Given the description of an element on the screen output the (x, y) to click on. 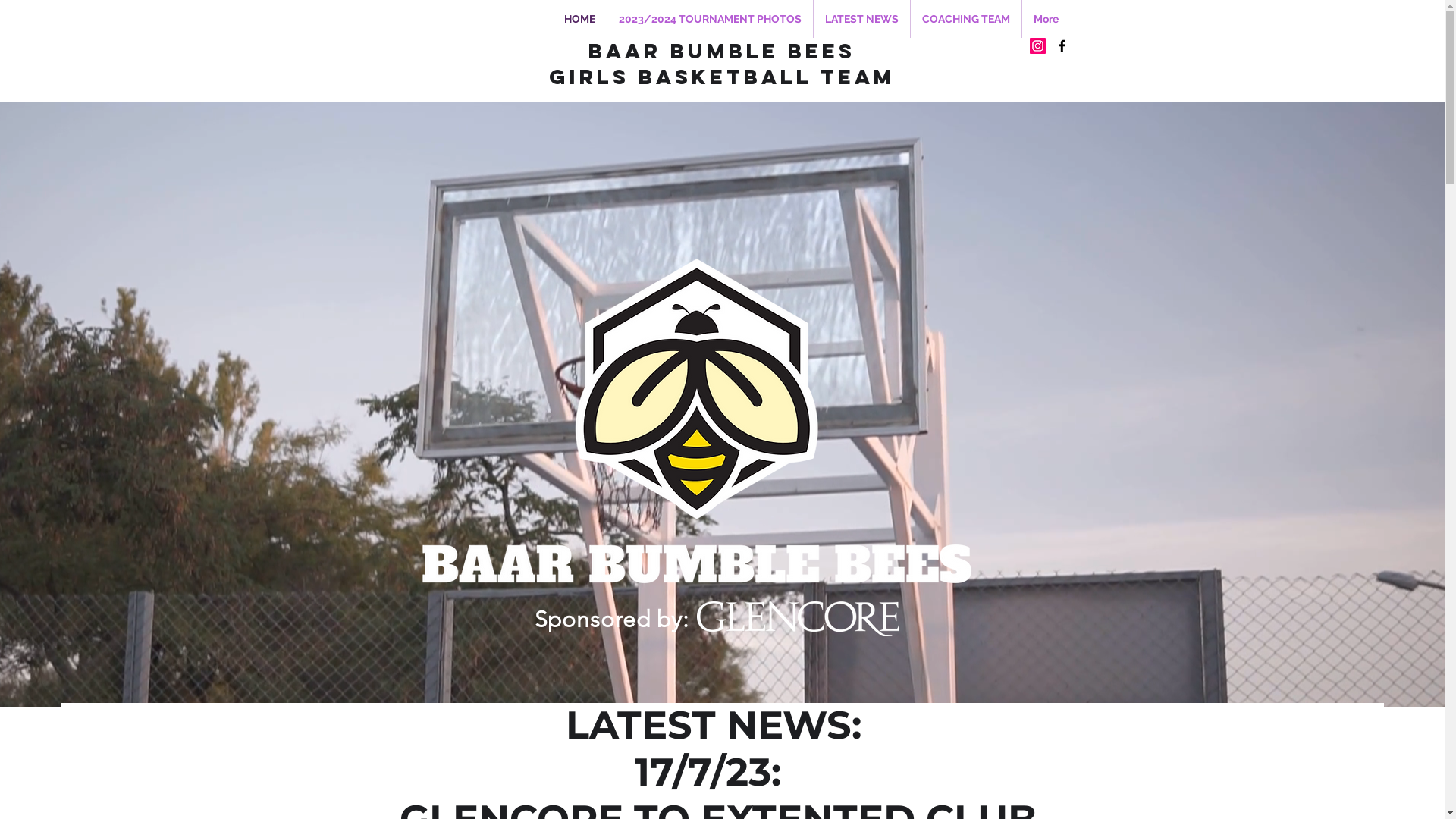
2023/2024 TOURNAMENT PHOTOS Element type: text (709, 18)
HOME Element type: text (578, 18)
LATEST NEWS Element type: text (860, 18)
COACHING TEAM Element type: text (965, 18)
